Given the description of an element on the screen output the (x, y) to click on. 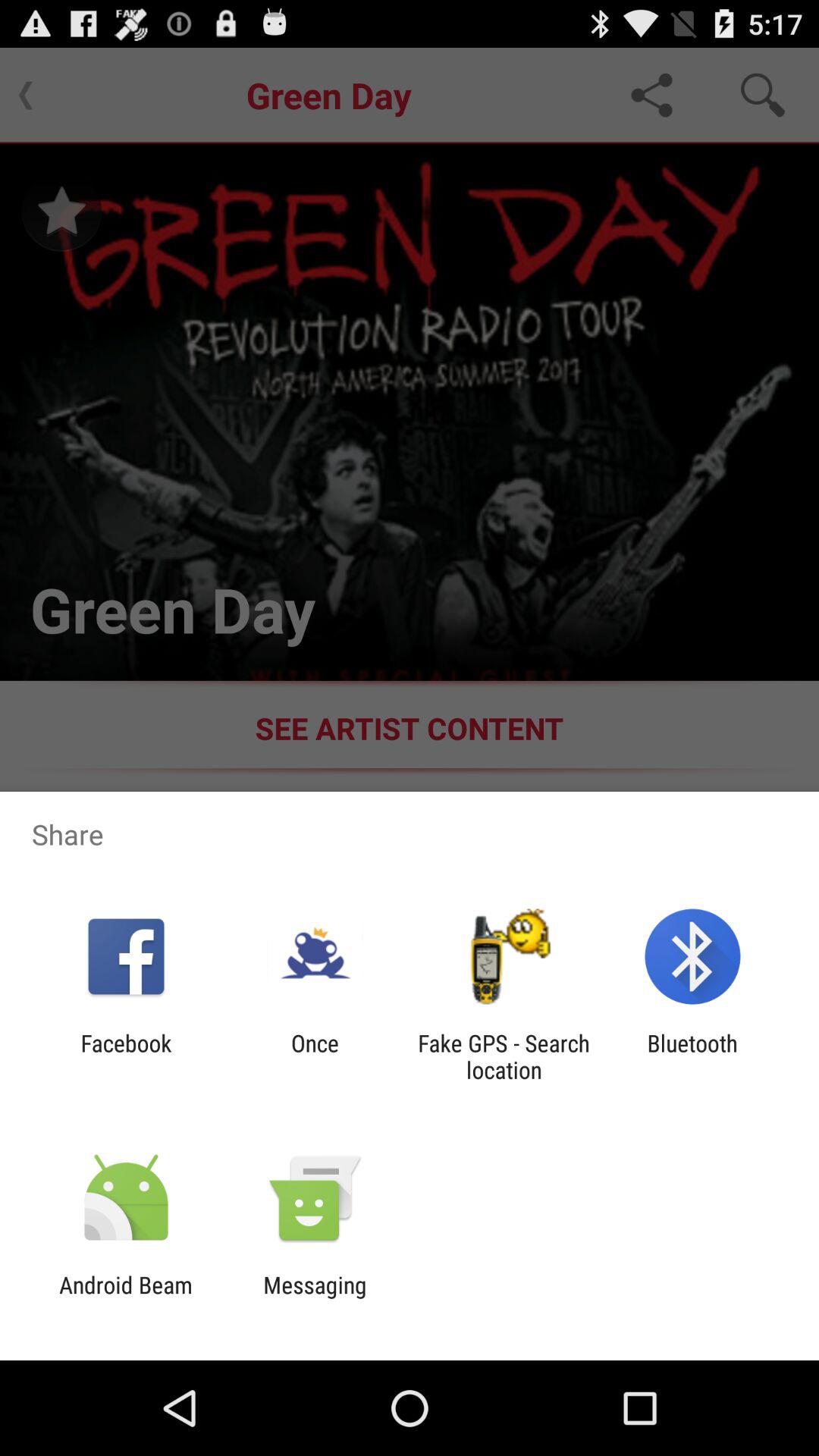
turn on the app next to the once app (503, 1056)
